Given the description of an element on the screen output the (x, y) to click on. 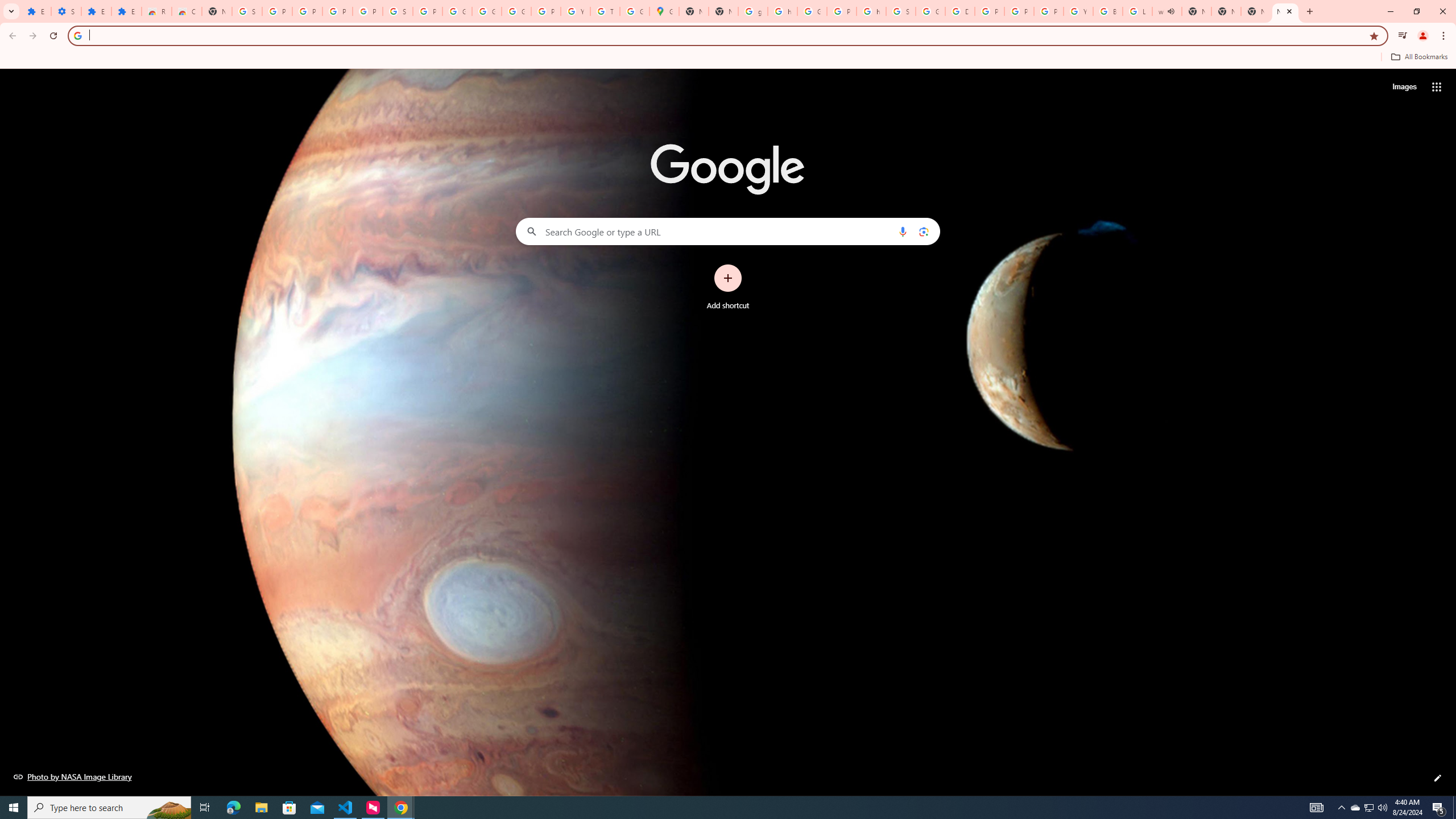
Google Account (486, 11)
Customize this page (1437, 778)
https://scholar.google.com/ (782, 11)
Privacy Help Center - Policies Help (1018, 11)
Privacy Help Center - Policies Help (989, 11)
